Given the description of an element on the screen output the (x, y) to click on. 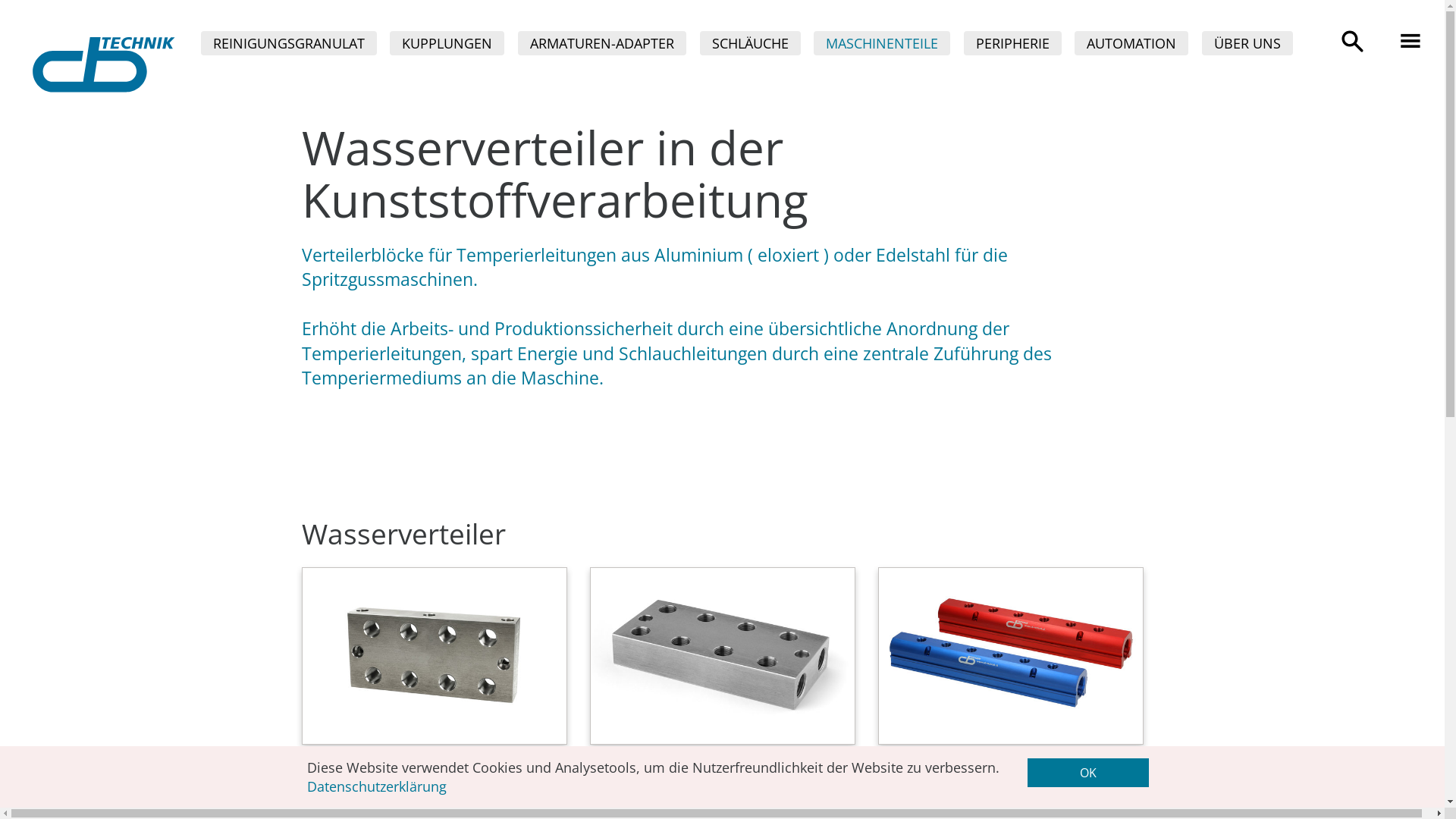
OK Element type: text (1087, 772)
KUPPLUNGEN Element type: text (446, 43)
MASCHINENTEILE Element type: text (881, 43)
Verteilerbatterie aus Chromstahl V2A Bohrungen durchgehend Element type: text (434, 691)
Verteilerbatterie aus Aluminium blau und rot eloxiert Element type: text (1010, 691)
News Element type: hover (1337, 43)
AUTOMATION Element type: text (1131, 43)
ARMATUREN-ADAPTER Element type: text (601, 43)
REINIGUNGSGRANULAT Element type: text (288, 43)
PERIPHERIE Element type: text (1012, 43)
